Given the description of an element on the screen output the (x, y) to click on. 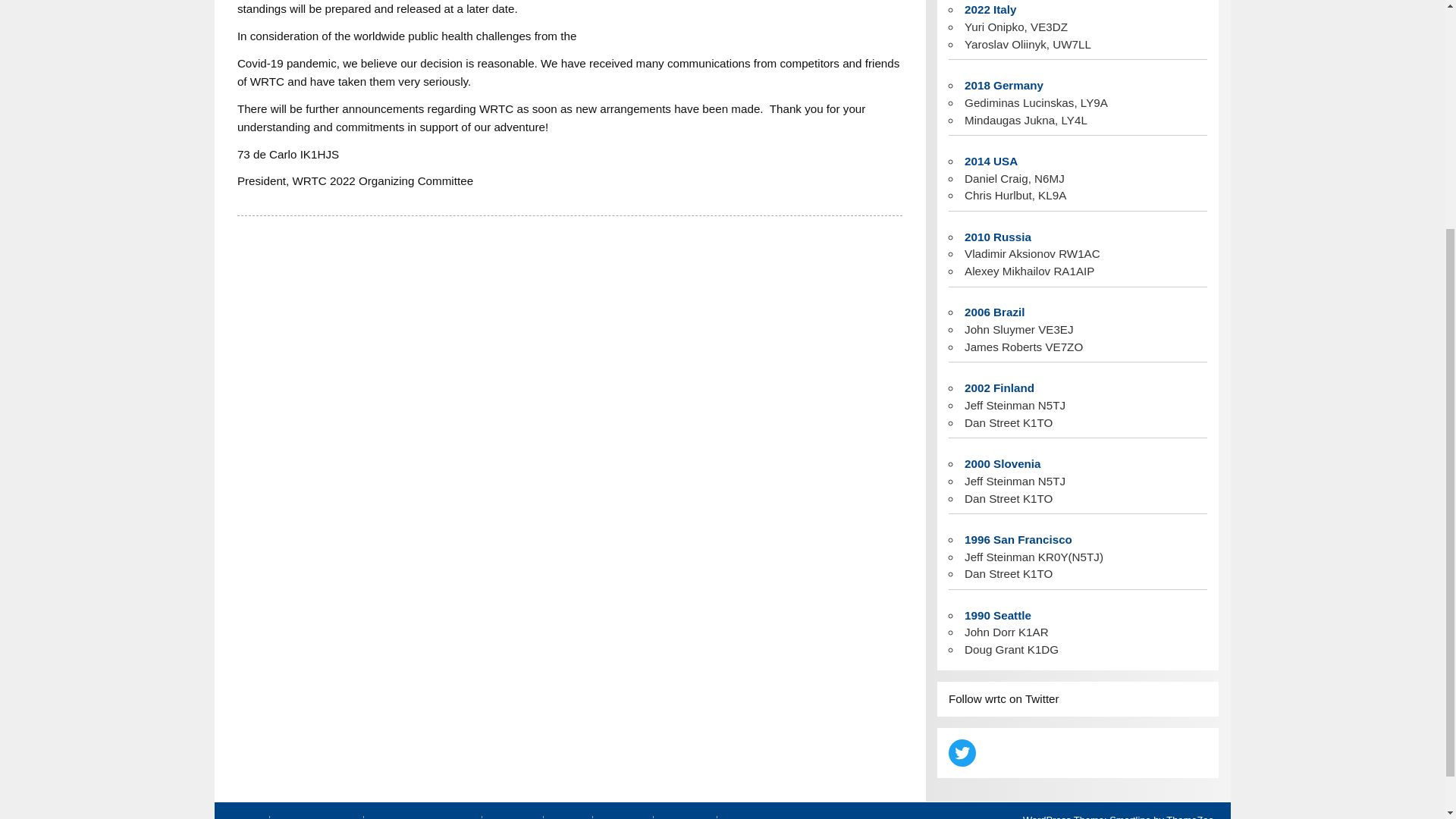
2010 Russia (996, 236)
Twitter (962, 752)
2000 Slovenia (1002, 463)
2002 Finland (998, 387)
1996 San Francisco (1017, 539)
2006 Brazil (994, 311)
2018 Germany (1003, 84)
2014 USA (990, 160)
1990 Seattle (996, 615)
2022 Italy (989, 9)
